Given the description of an element on the screen output the (x, y) to click on. 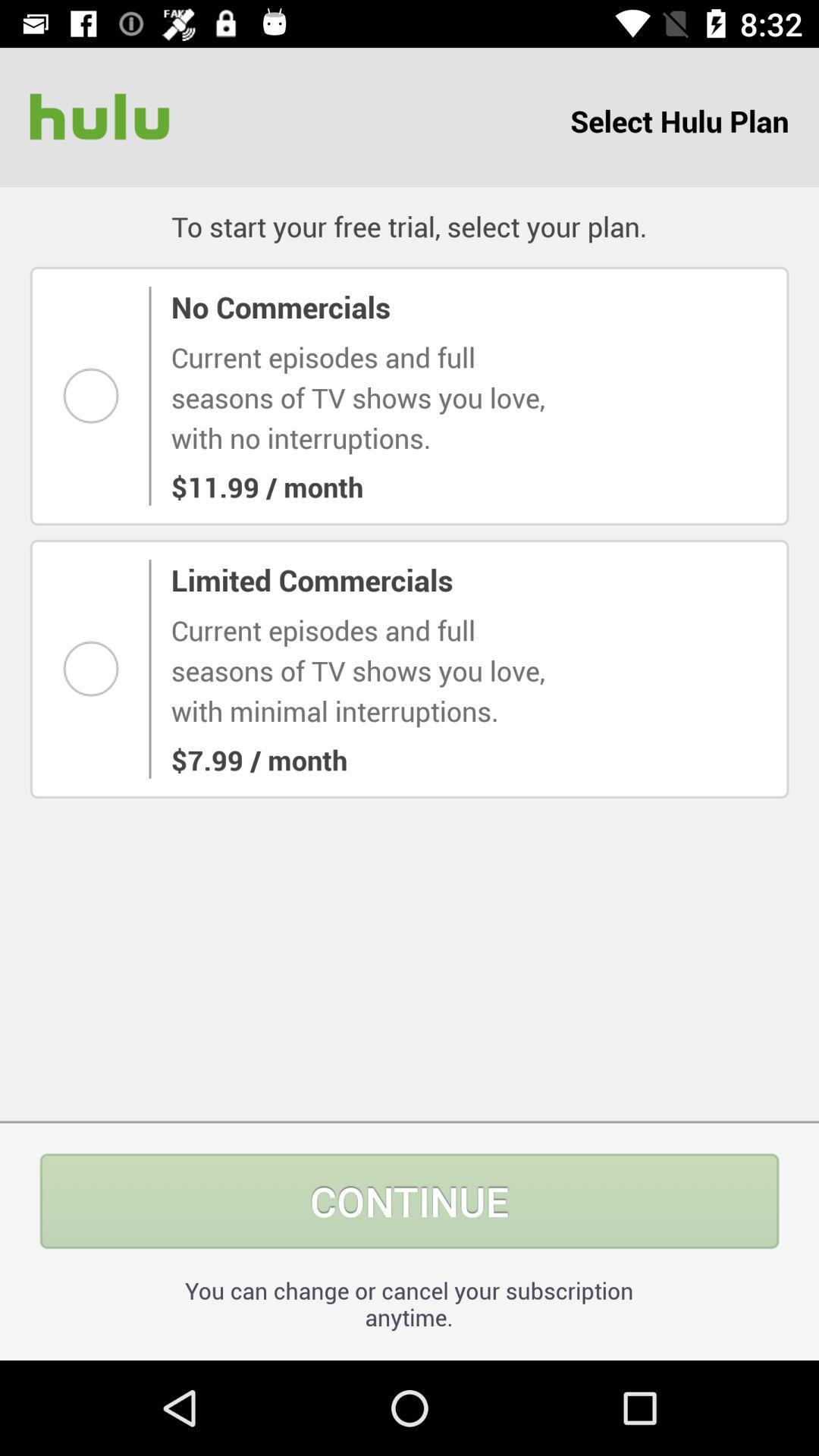
select to select (96, 668)
